Given the description of an element on the screen output the (x, y) to click on. 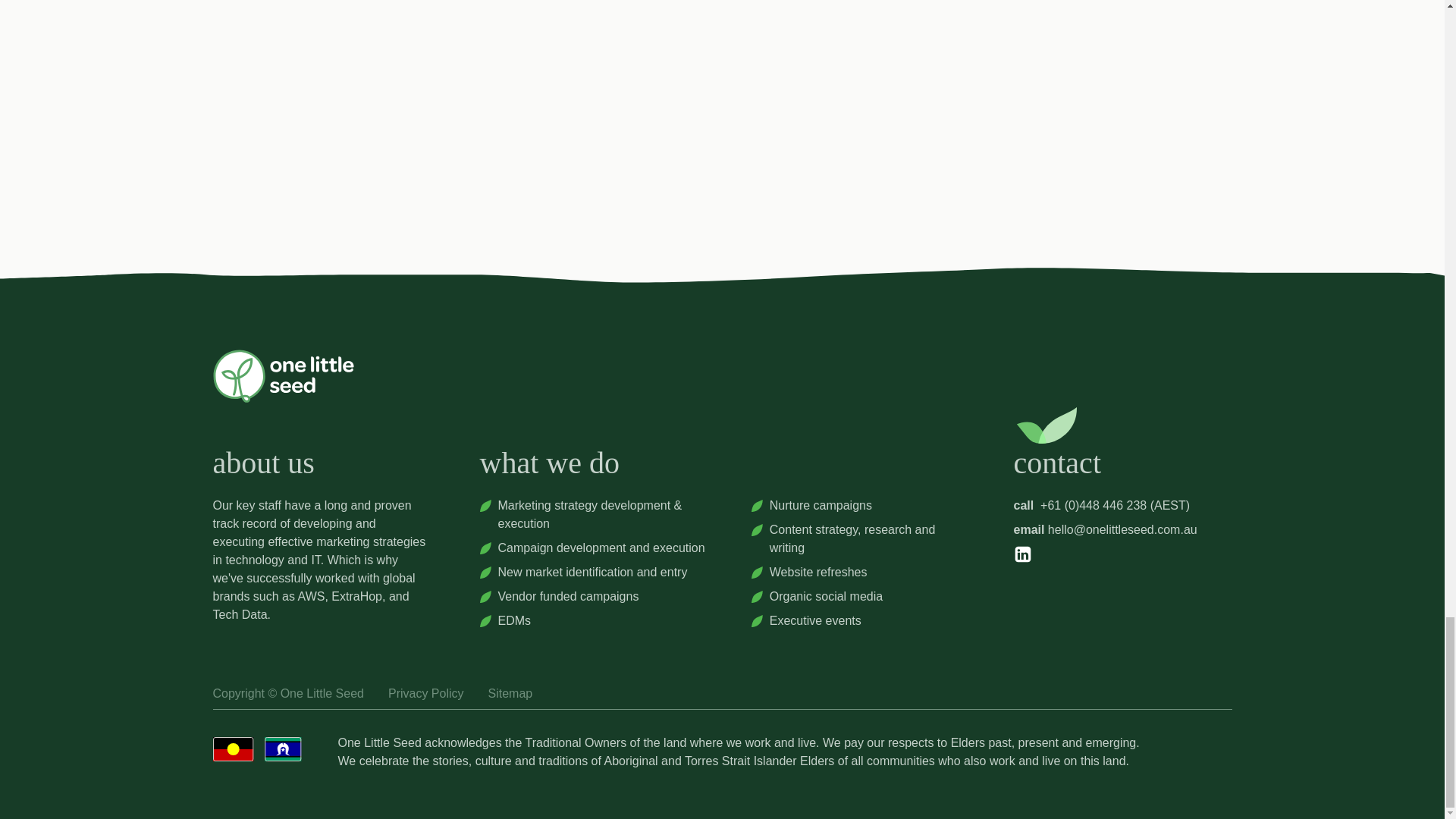
Sitemap (509, 693)
about us (263, 470)
Privacy Policy (426, 693)
what we do (548, 470)
